Given the description of an element on the screen output the (x, y) to click on. 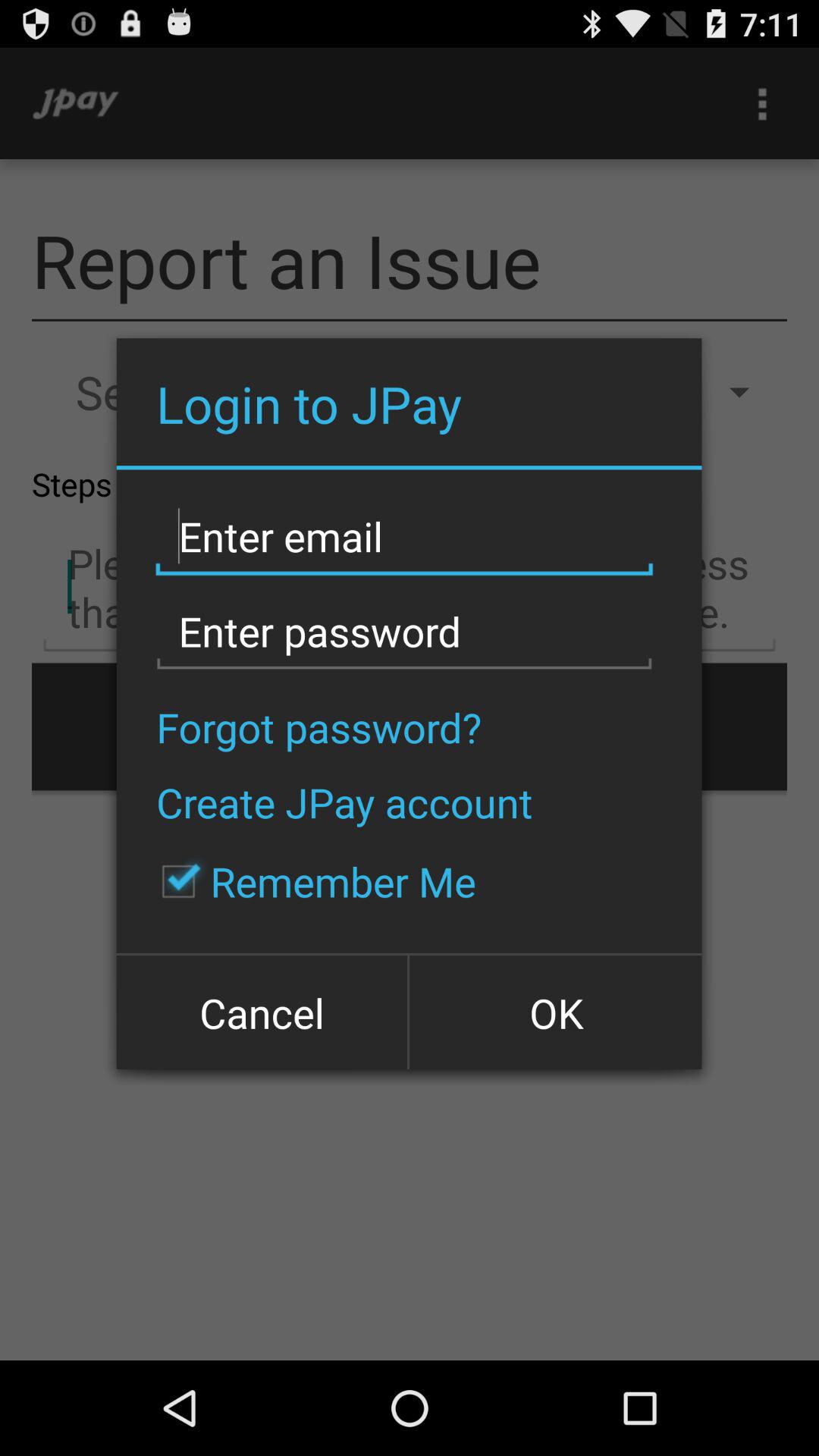
press the icon at the bottom left corner (263, 1011)
